Given the description of an element on the screen output the (x, y) to click on. 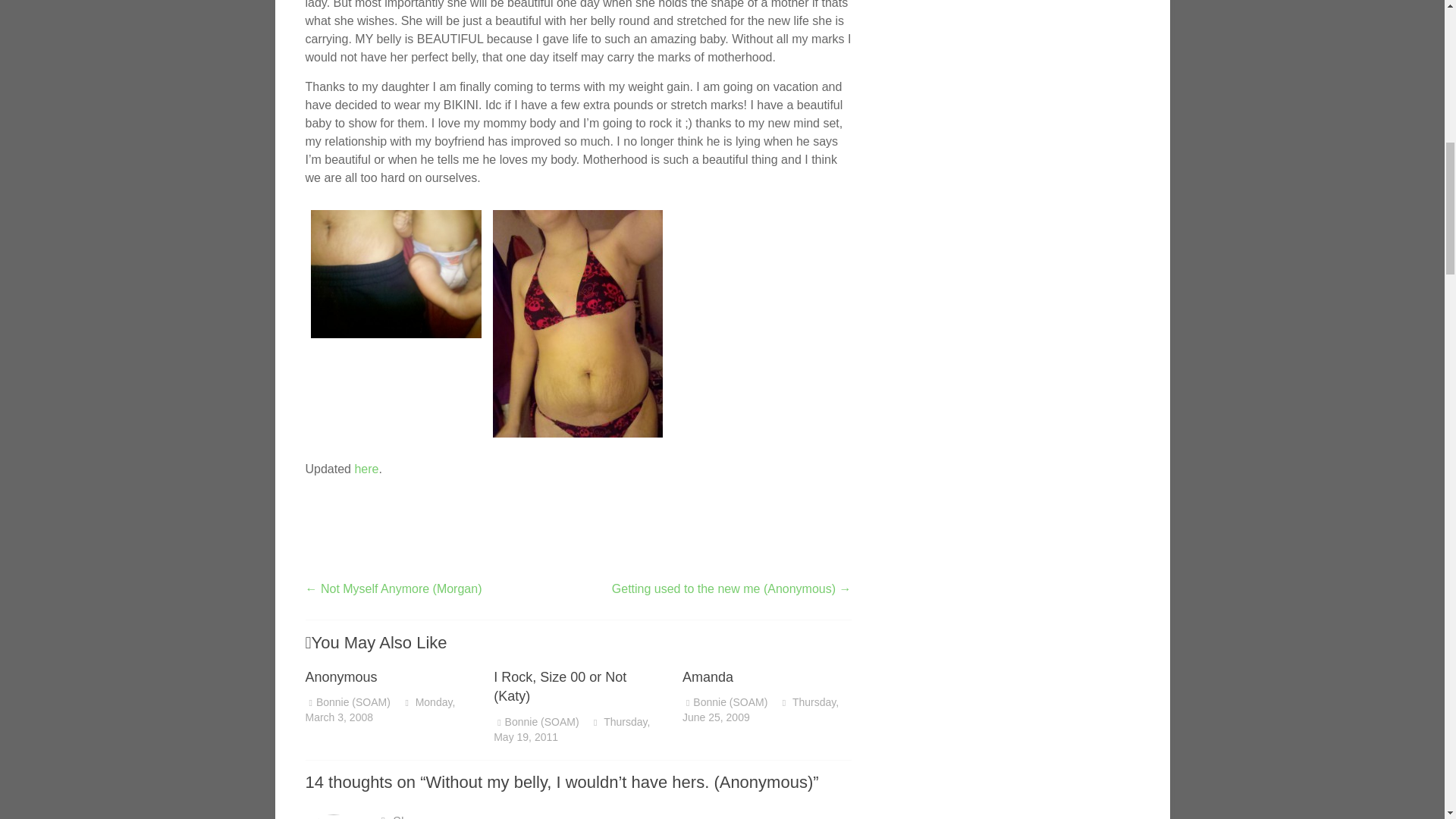
9:09 am (760, 709)
9:03 pm (379, 709)
Thursday, June 25, 2009 (760, 709)
7:06 am (571, 728)
Thursday, May 19, 2011 (571, 728)
Anonymous (340, 676)
Monday, March 3, 2008 (379, 709)
Amanda (707, 676)
here (365, 468)
Anonymous (340, 676)
